Given the description of an element on the screen output the (x, y) to click on. 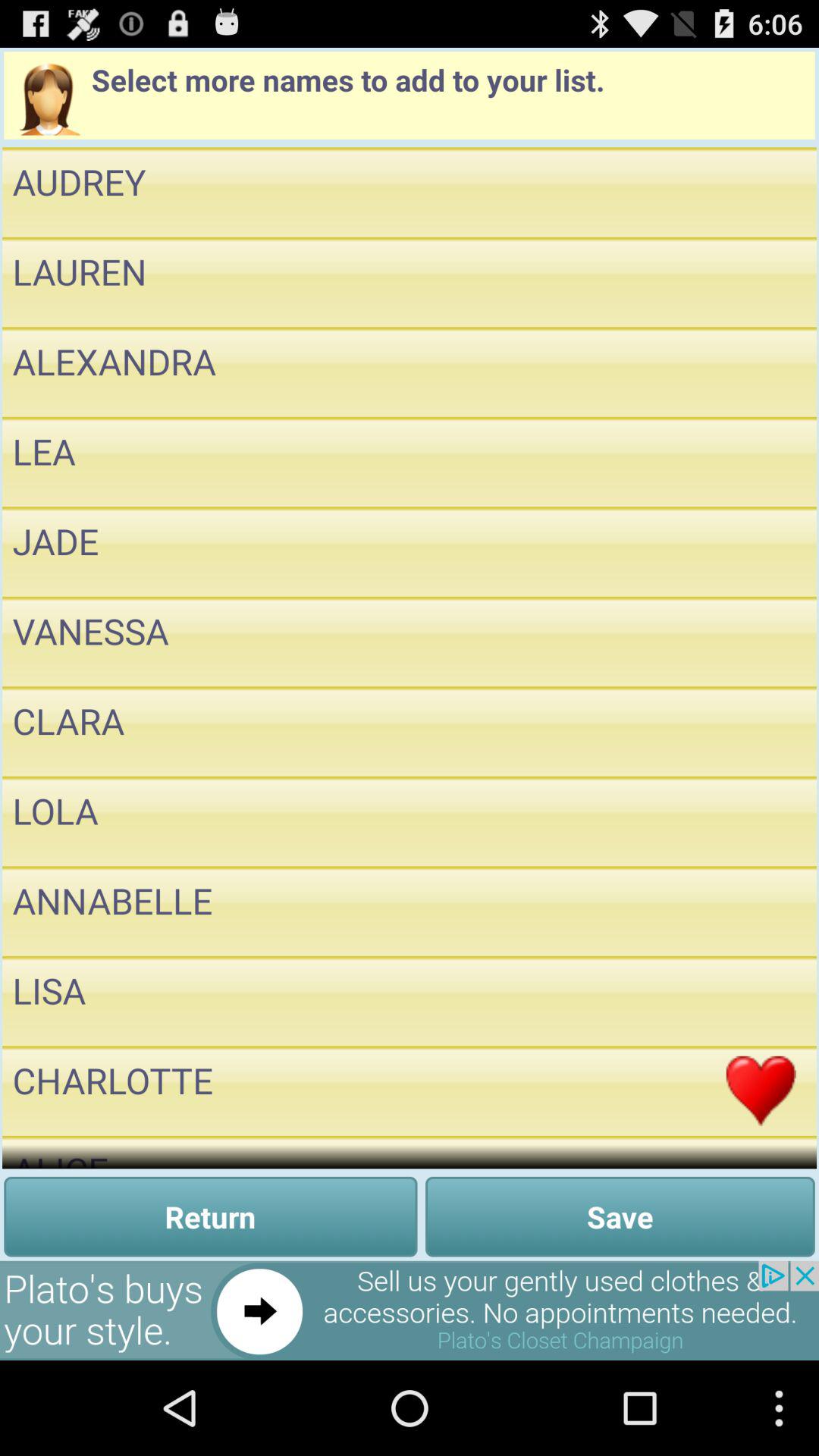
click the profile icon (47, 95)
